Given the description of an element on the screen output the (x, y) to click on. 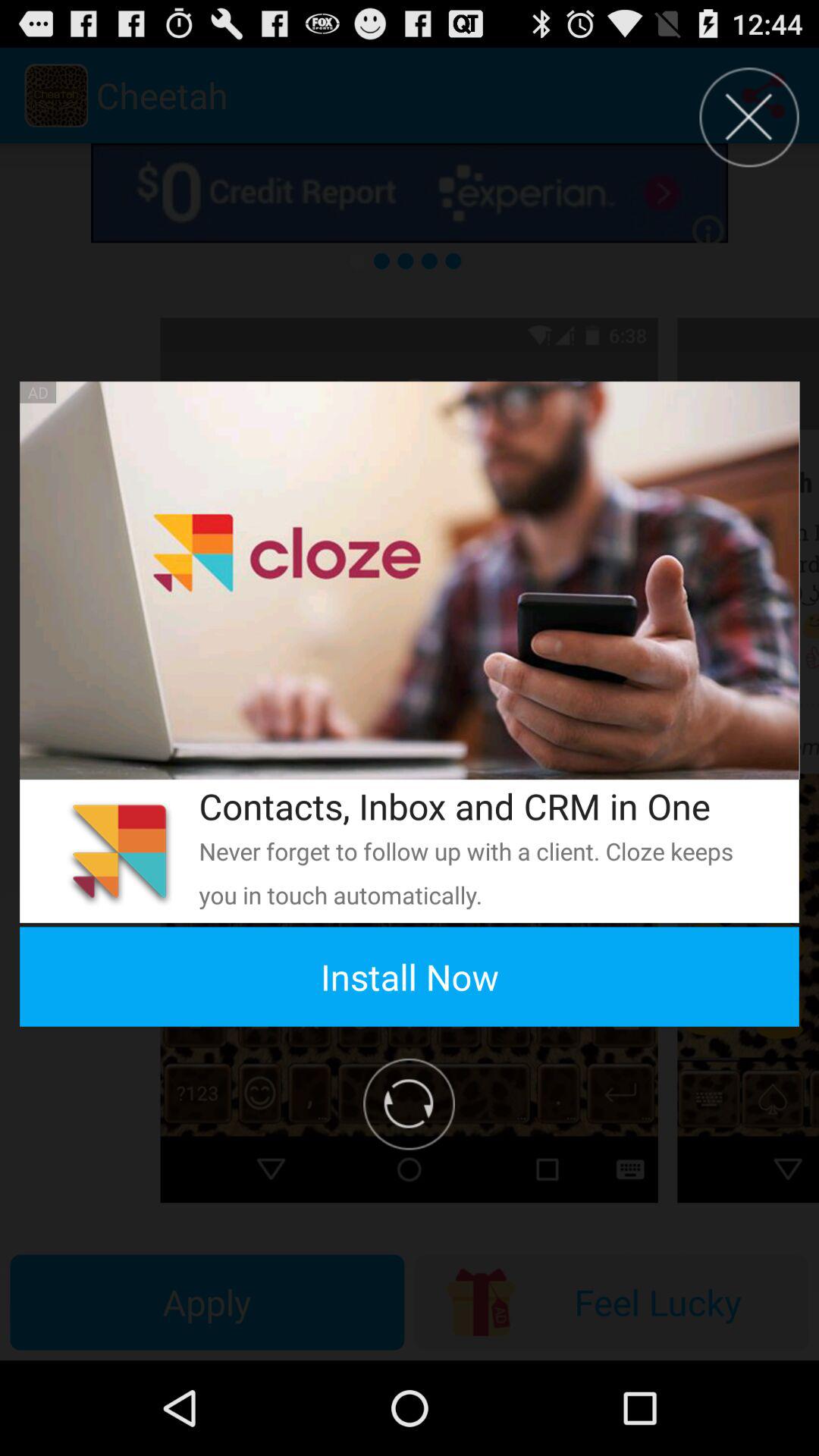
swipe to never forget to app (479, 872)
